Given the description of an element on the screen output the (x, y) to click on. 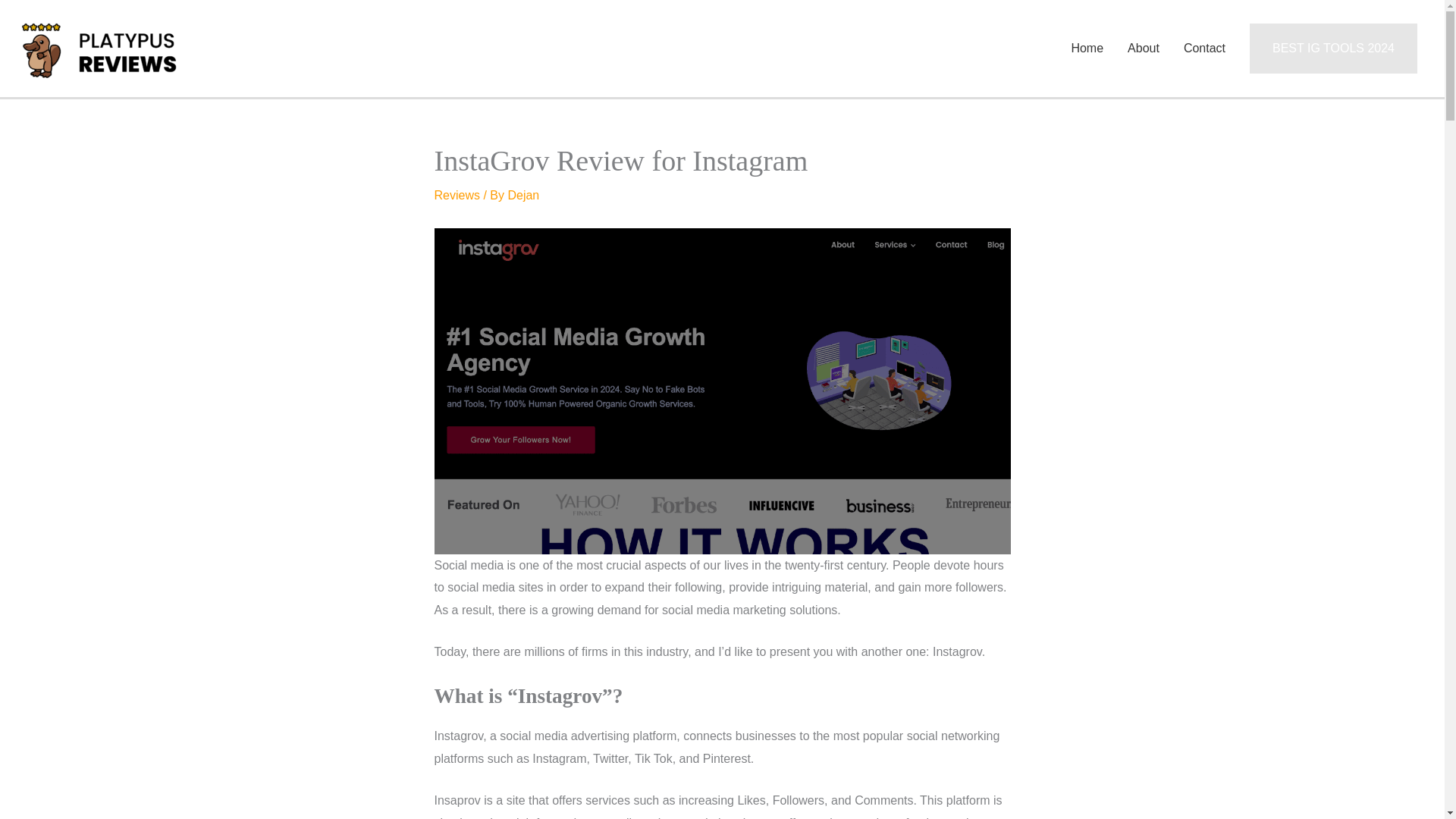
Home (1086, 48)
Contact (1204, 48)
View all posts by Dejan (522, 195)
Reviews (456, 195)
BEST IG TOOLS 2024 (1332, 48)
Dejan (522, 195)
About (1143, 48)
